Given the description of an element on the screen output the (x, y) to click on. 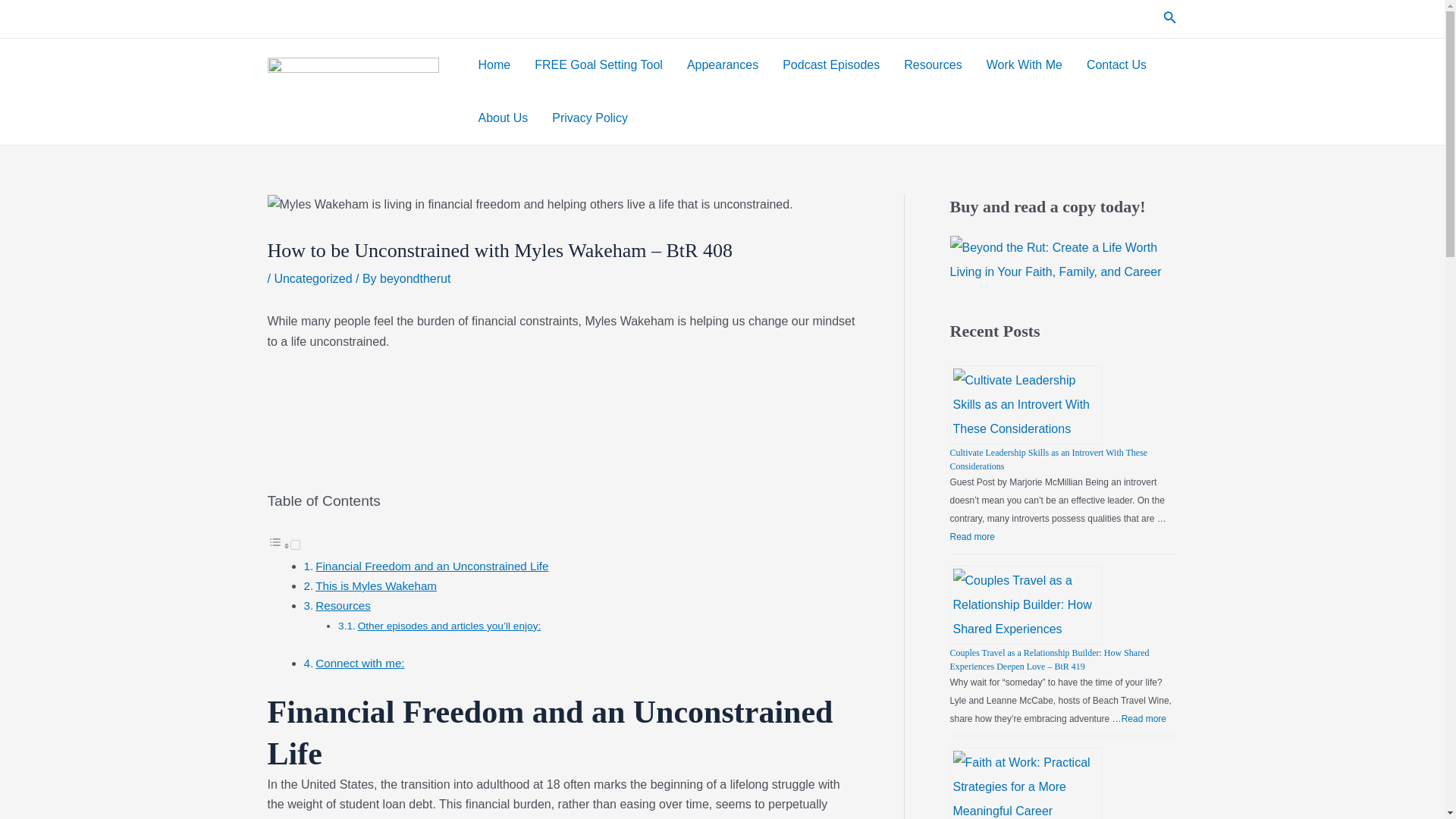
About Us (502, 117)
How to Be Unconstrained with Myles Wakeham (561, 428)
Contact Us (1116, 64)
beyondtherut (414, 278)
Podcast Episodes (830, 64)
Financial Freedom and an Unconstrained Life (431, 565)
Appearances (722, 64)
This is Myles Wakeham (375, 585)
This is Myles Wakeham (375, 585)
Connect with me: (359, 662)
Home (493, 64)
Resources (343, 604)
View all posts by beyondtherut (414, 278)
Connect with me: (359, 662)
Resources (343, 604)
